Given the description of an element on the screen output the (x, y) to click on. 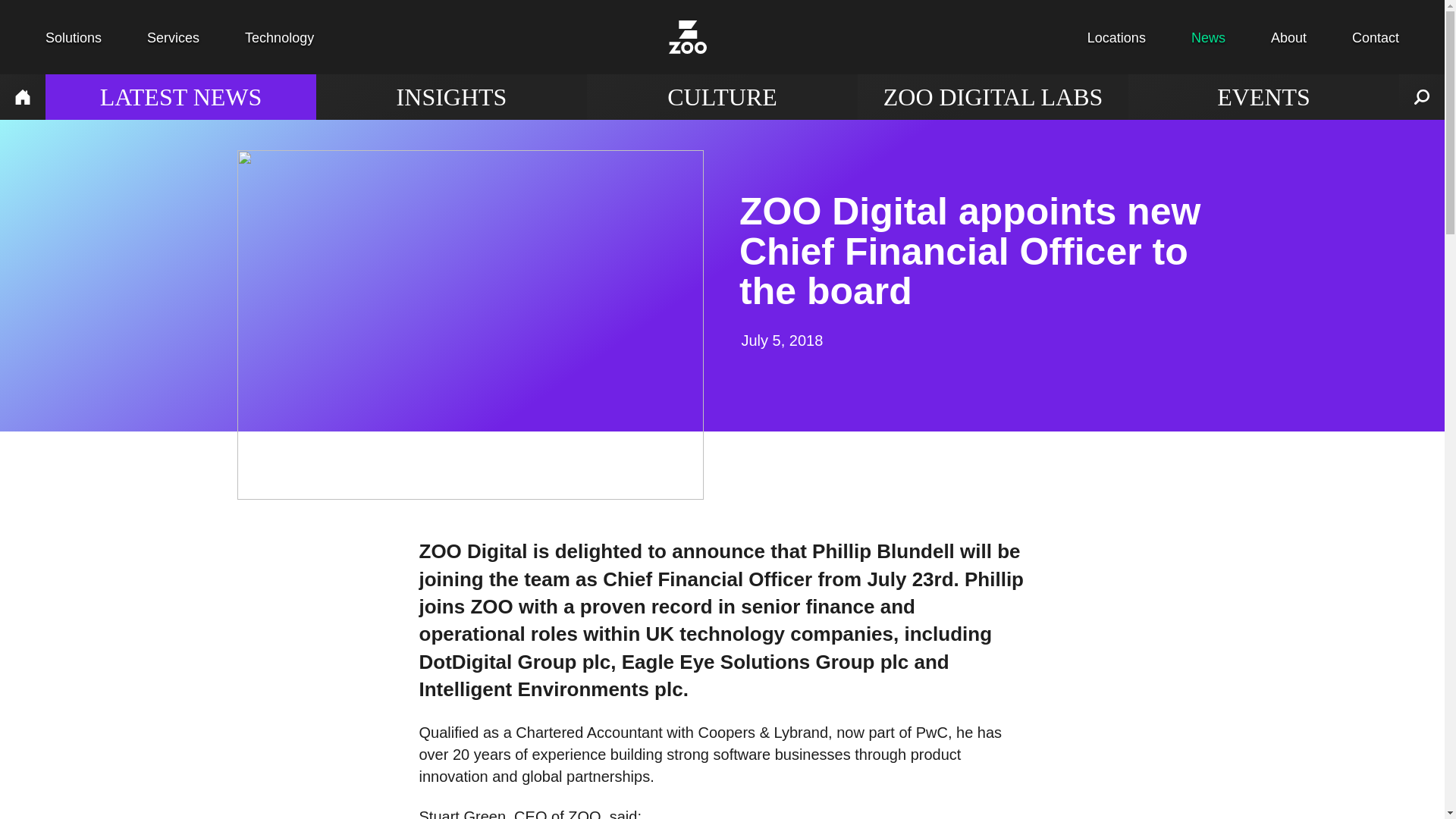
Technology (279, 37)
CULTURE (721, 96)
EVENTS (1263, 96)
Services (173, 37)
Solutions (73, 37)
LATEST NEWS (180, 96)
Locations (1116, 37)
ZOO DIGITAL LABS (992, 96)
INSIGHTS (450, 96)
About (1288, 37)
Contact (1375, 37)
News (1208, 37)
